Given the description of an element on the screen output the (x, y) to click on. 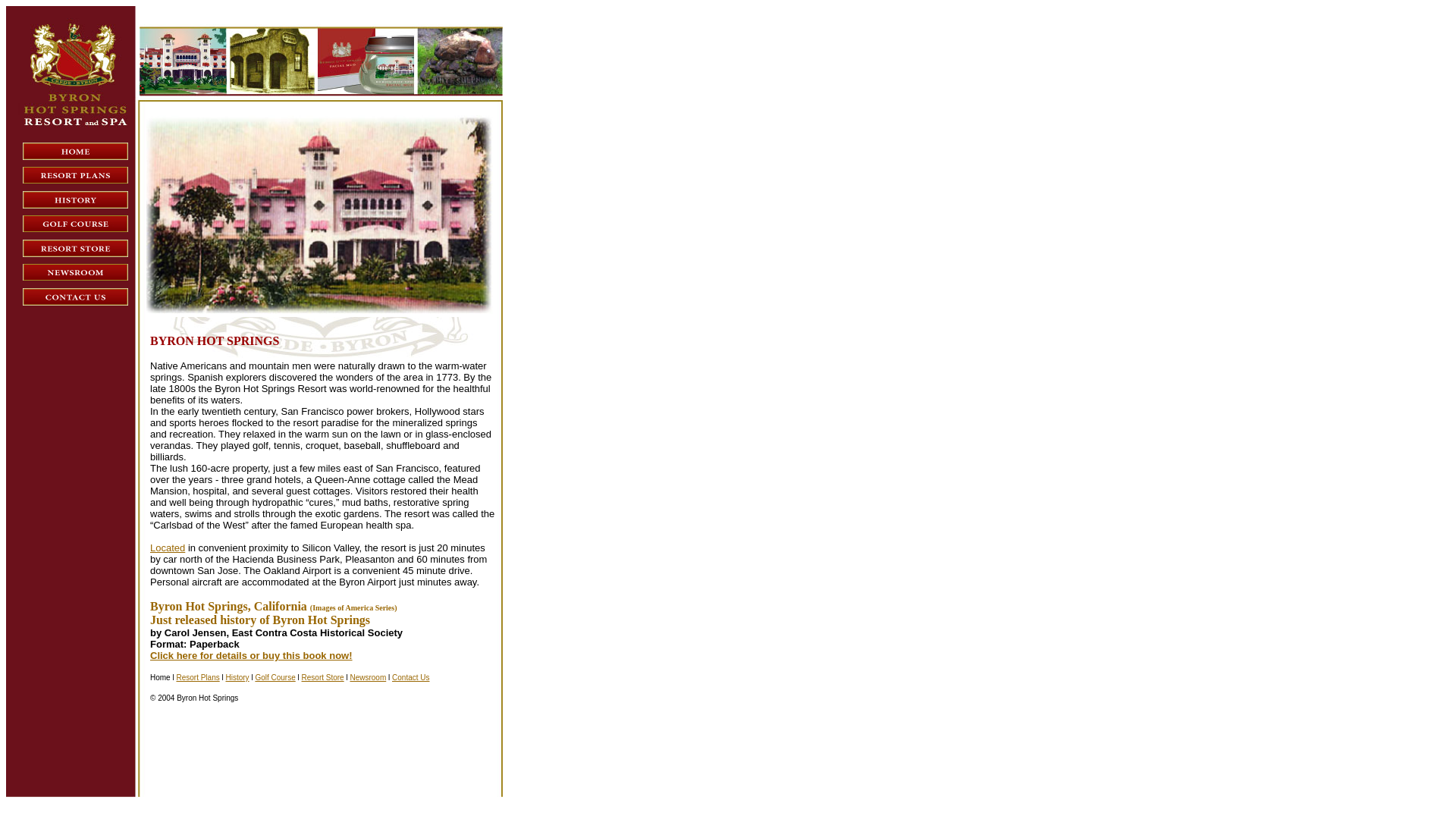
History (236, 677)
Newsroom (367, 677)
Contact Us (410, 677)
Click here for details or buy this book now! (250, 655)
Located (166, 547)
Golf Course (274, 677)
Resort Plans (197, 677)
Resort Store (322, 677)
